Given the description of an element on the screen output the (x, y) to click on. 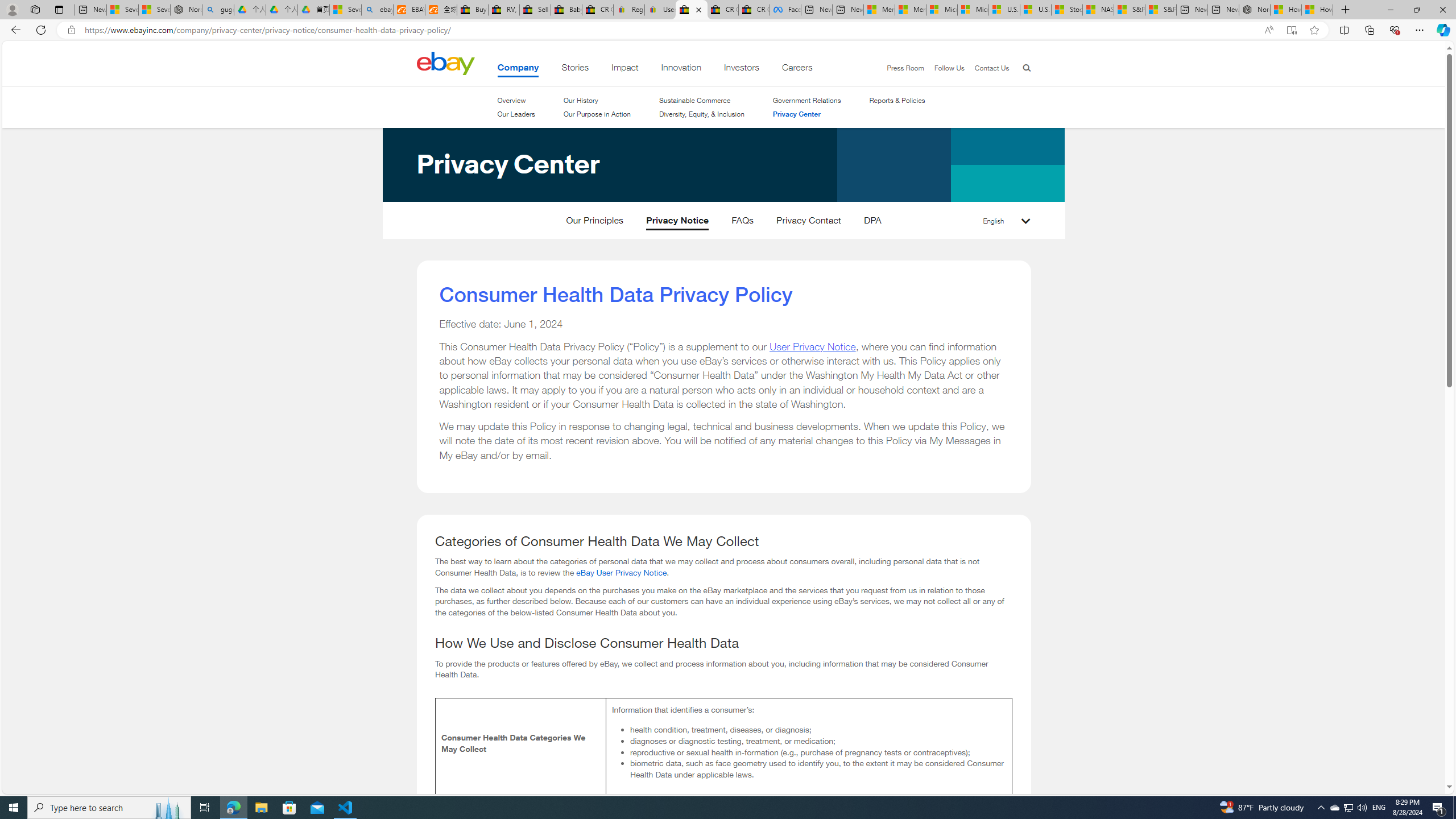
Investors (740, 69)
How to Use a Monitor With Your Closed Laptop (1317, 9)
FAQs (742, 222)
ebay - Search (376, 9)
Stories (575, 69)
Innovation (681, 69)
Register: Create a personal eBay account (628, 9)
health condition, treatment, diseases, or diagnosis; (817, 729)
Privacy Contact (808, 222)
guge yunpan - Search (218, 9)
